Given the description of an element on the screen output the (x, y) to click on. 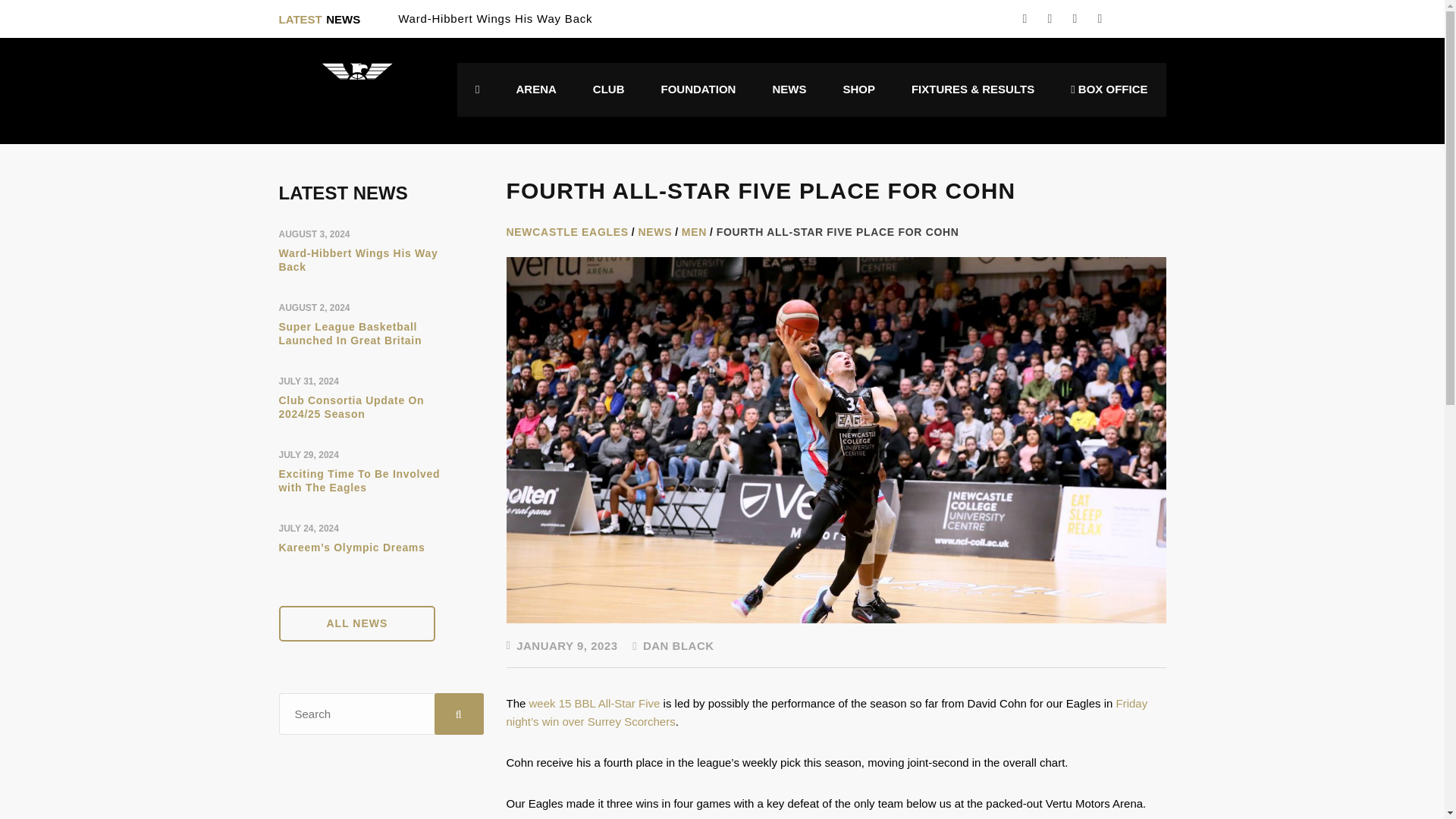
ALL NEWS (357, 623)
ARENA (536, 89)
FOUNDATION (698, 89)
Home (336, 89)
CLUB (609, 89)
